Given the description of an element on the screen output the (x, y) to click on. 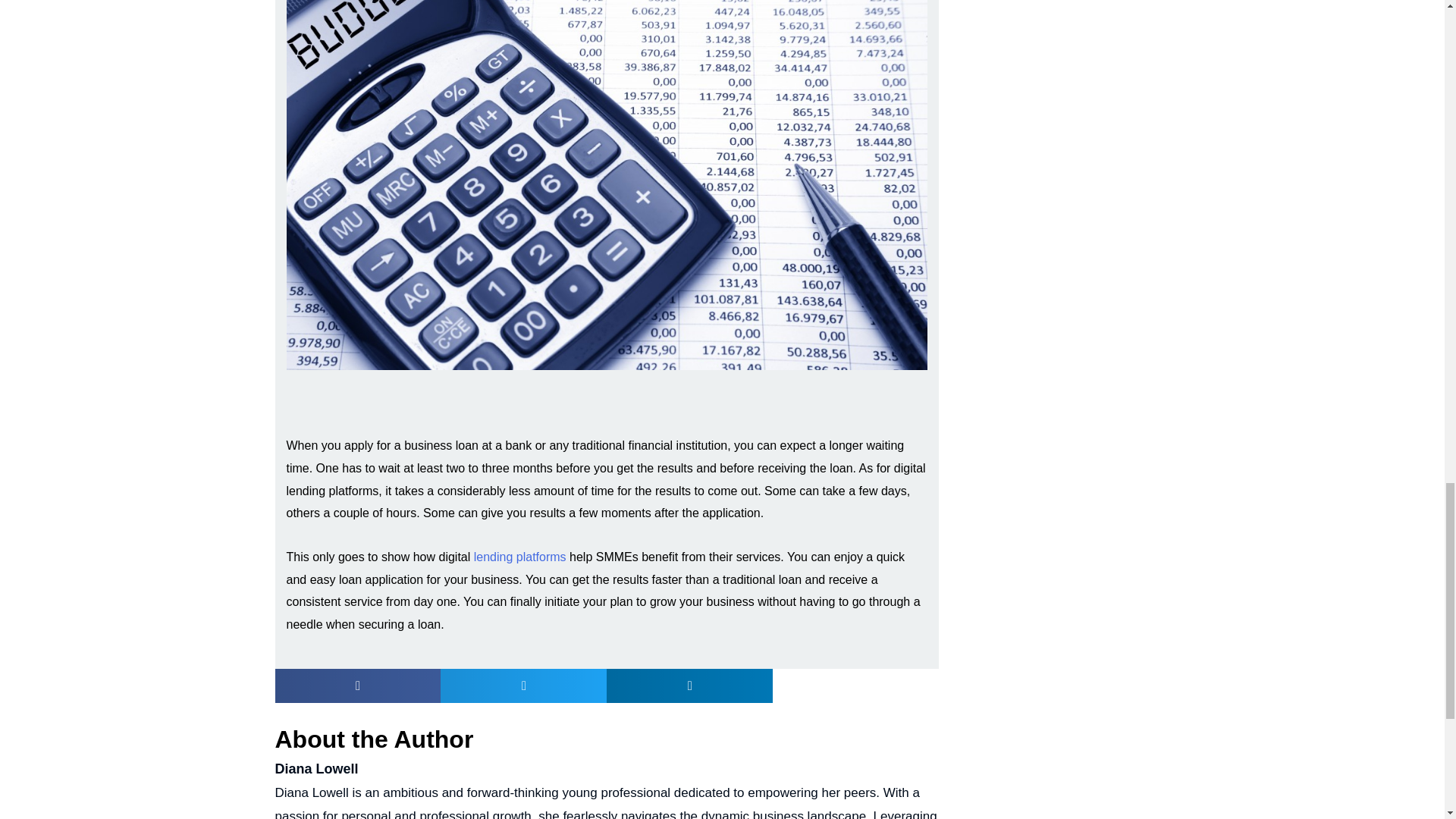
lending platforms (520, 556)
